Given the description of an element on the screen output the (x, y) to click on. 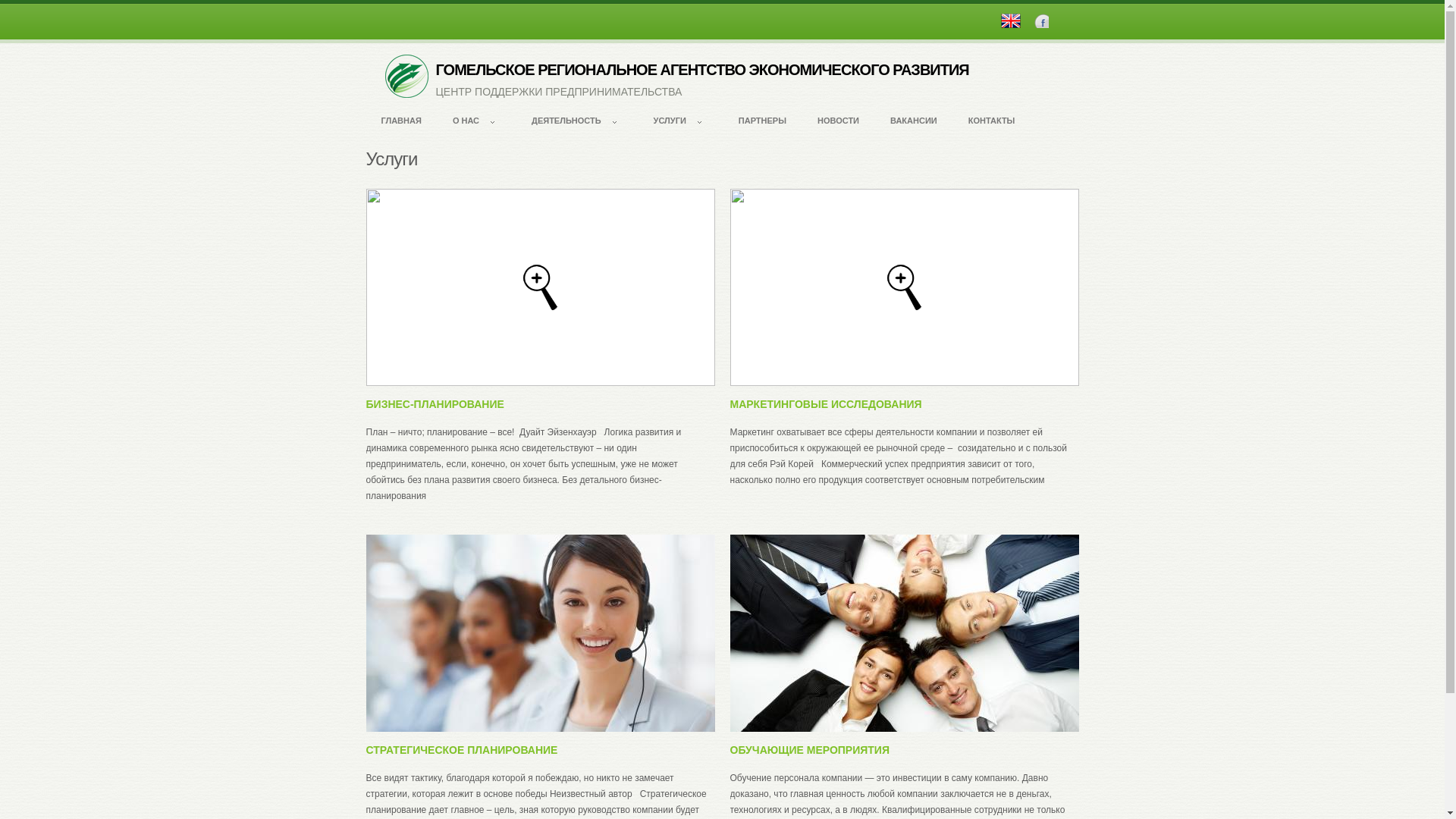
Facebook Element type: text (1041, 20)
English Element type: text (1010, 20)
